Given the description of an element on the screen output the (x, y) to click on. 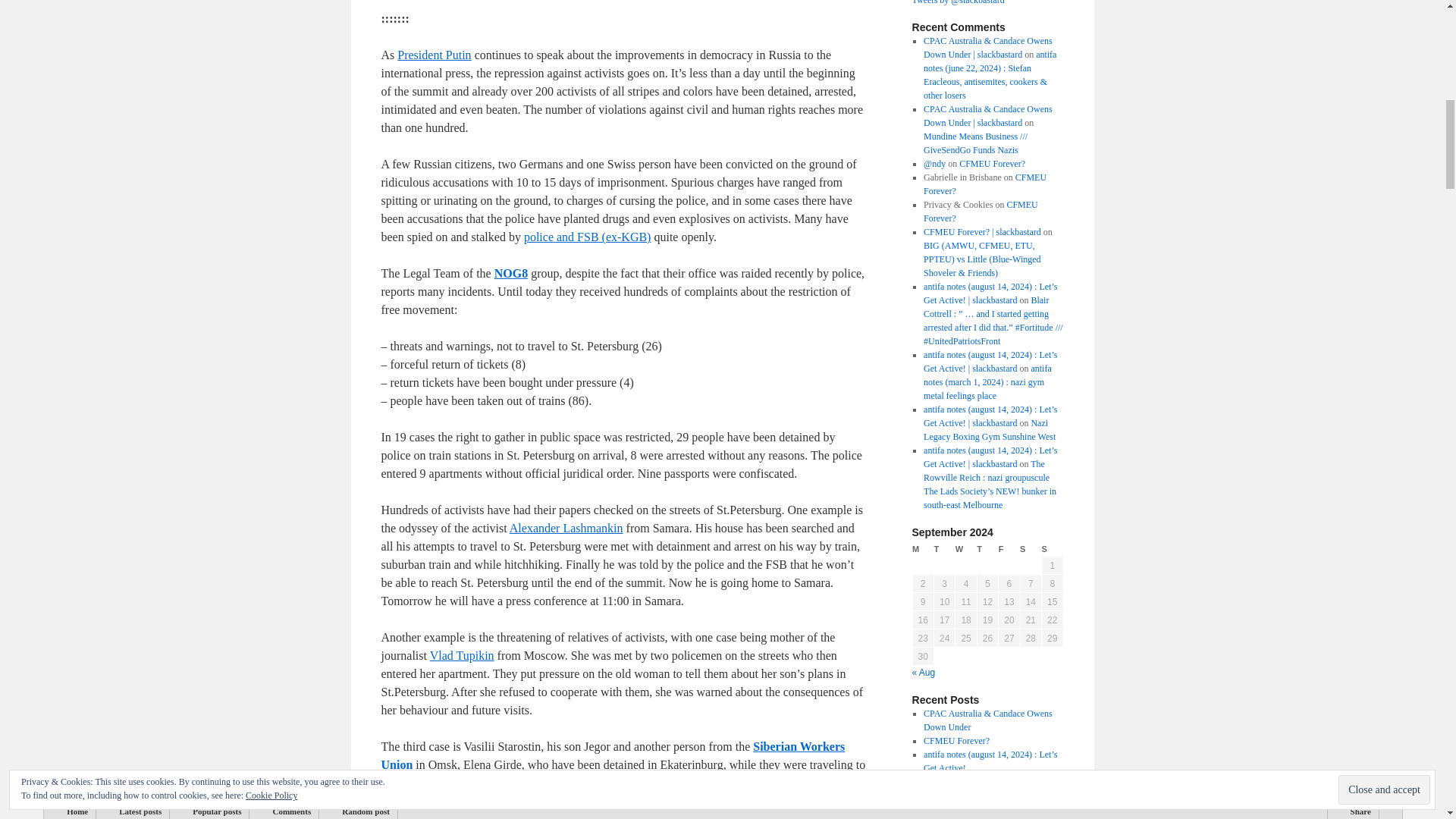
Vlad Tupikin (462, 655)
NOG8 (511, 273)
Wednesday (965, 549)
Monday (922, 549)
Thursday (986, 549)
Saturday (1030, 549)
Omsk (394, 816)
Friday (1009, 549)
President Putin (433, 54)
Tuesday (944, 549)
